Given the description of an element on the screen output the (x, y) to click on. 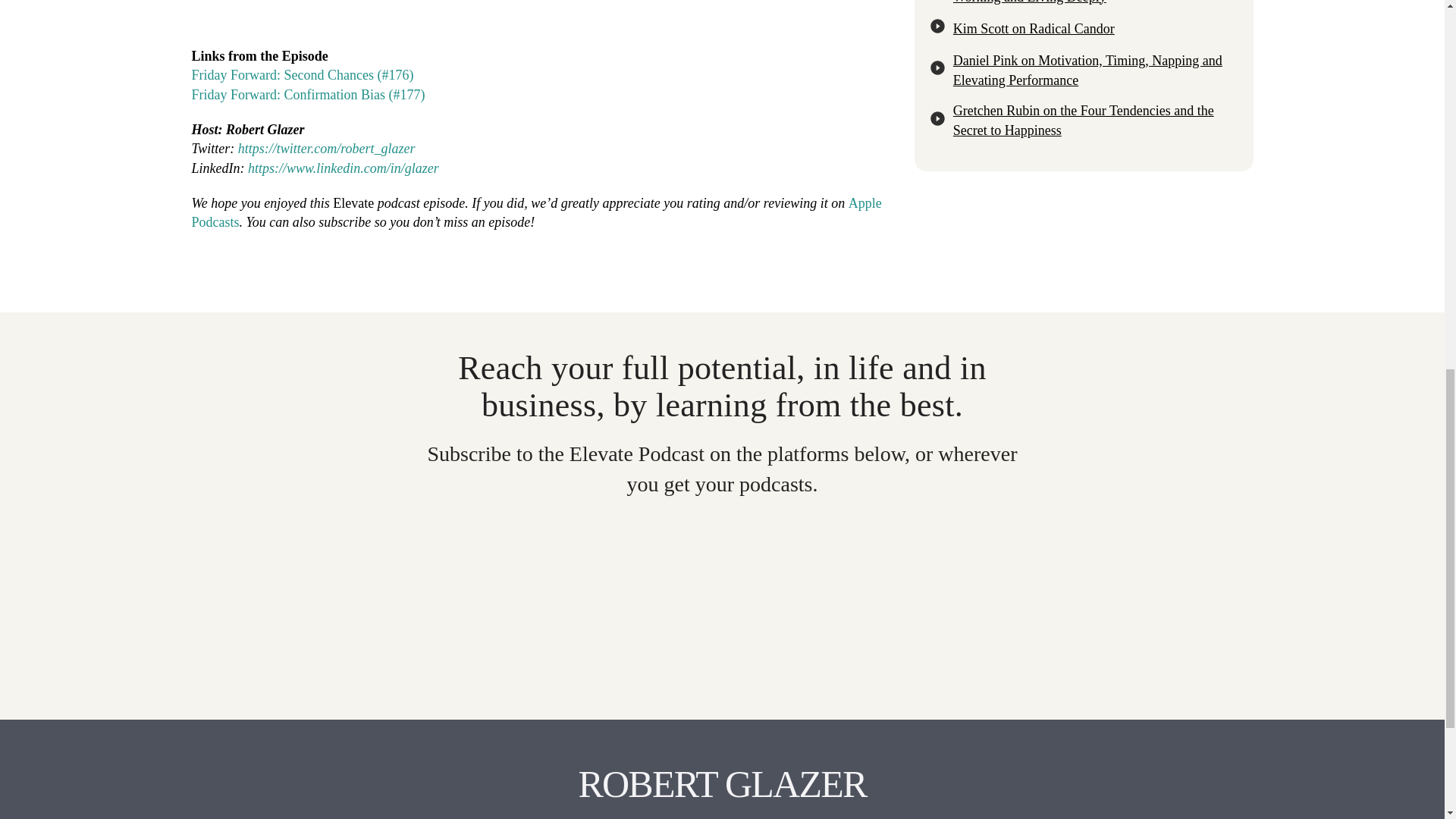
Kim Scott on Radical Candor (1084, 29)
Apple Podcasts (535, 212)
ROBERT GLAZER (722, 783)
